Given the description of an element on the screen output the (x, y) to click on. 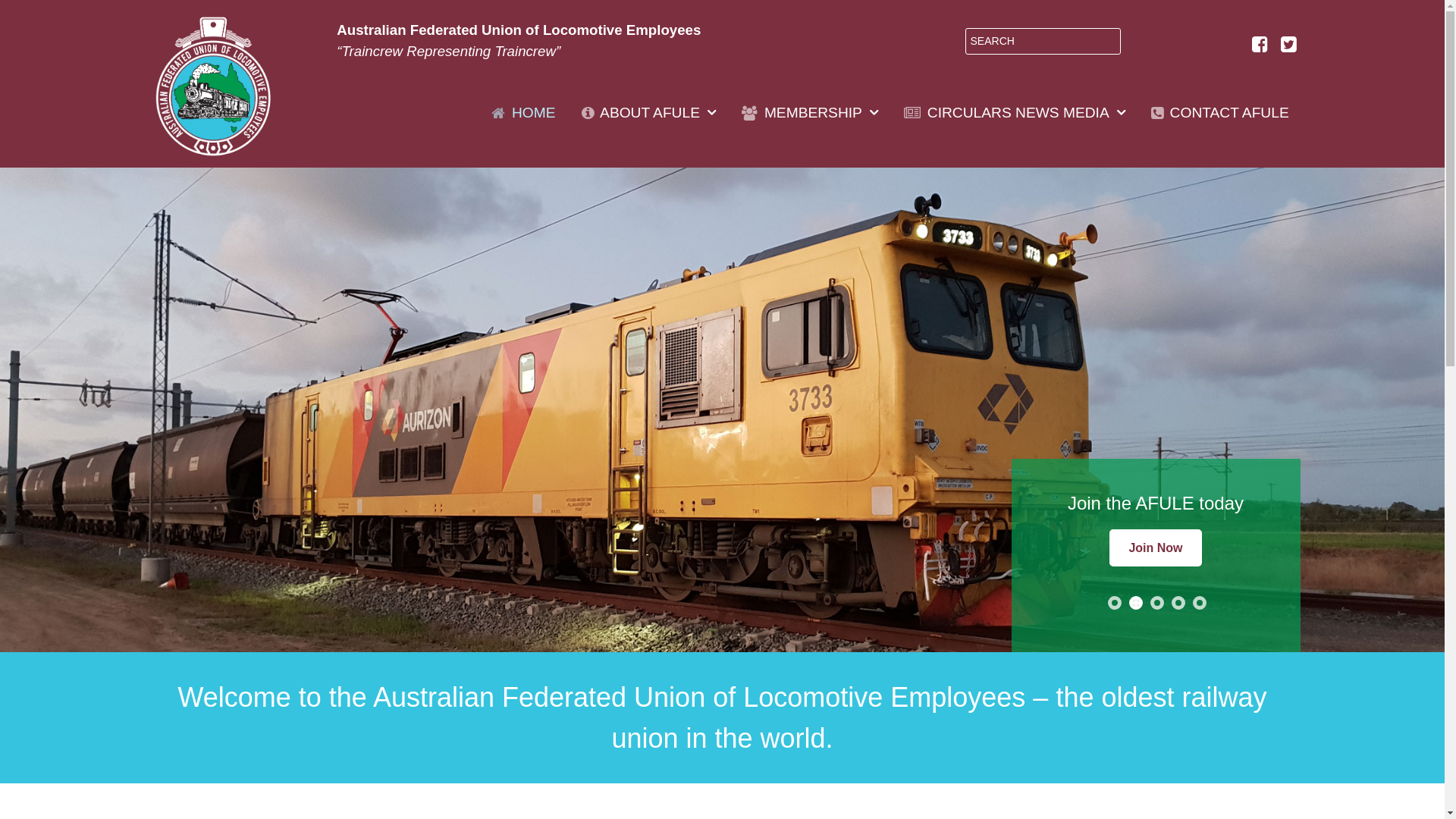
Join Now Element type: text (1155, 548)
CIRCULARS NEWS MEDIA Element type: text (1013, 112)
HOME Element type: text (523, 112)
ABOUT AFULE Element type: text (648, 112)
MEMBERSHIP Element type: text (810, 112)
CONTACT AFULE Element type: text (1219, 112)
